Given the description of an element on the screen output the (x, y) to click on. 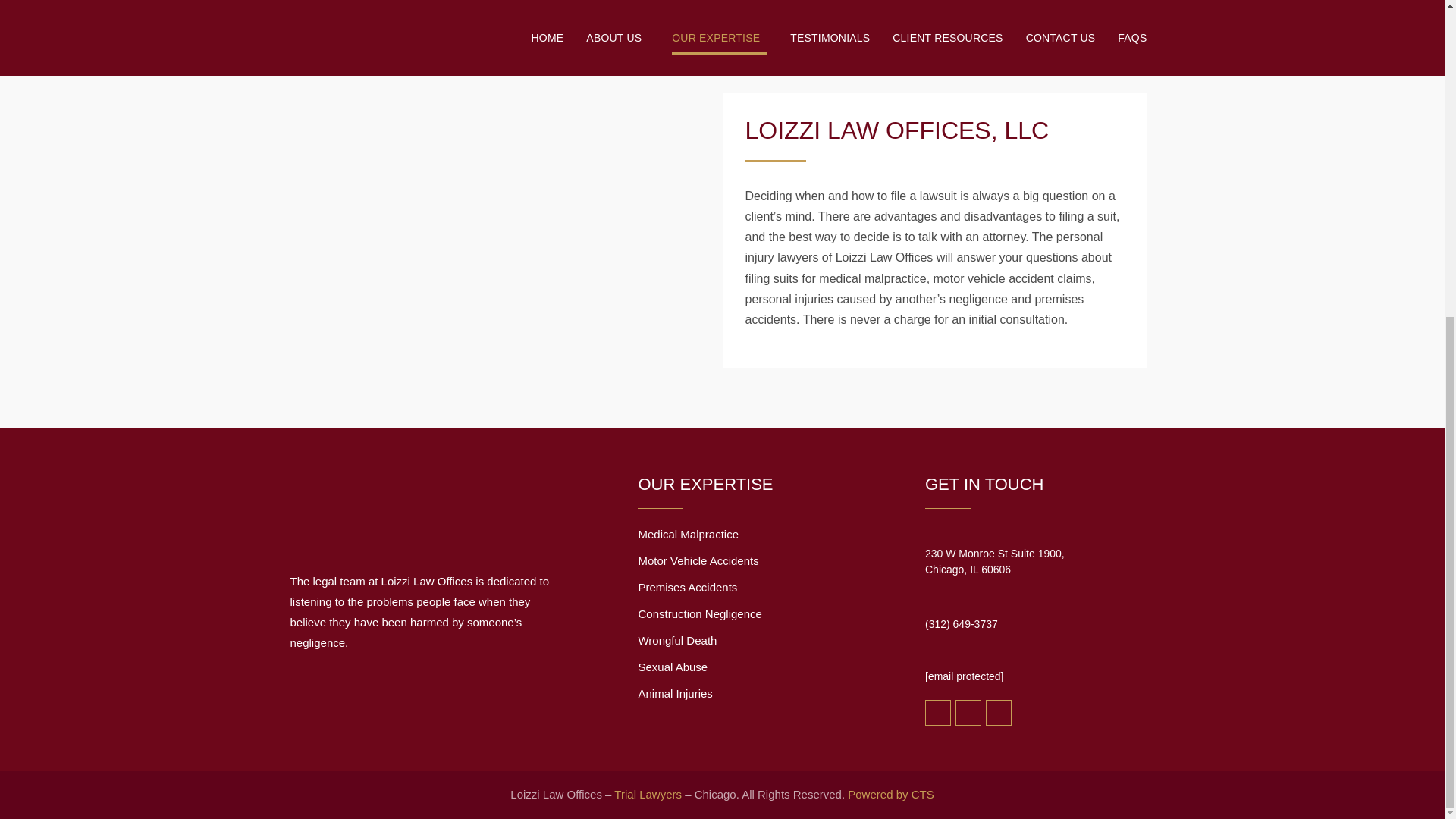
Wrongful Death (676, 640)
Motor Vehicle Accidents (697, 560)
Trial Lawyers (646, 793)
Construction Negligence (699, 613)
Sexual Abuse (672, 666)
Premises Accidents (994, 561)
Medical Malpractice (686, 587)
Powered by CTS (687, 533)
Animal Injuries (890, 793)
